Given the description of an element on the screen output the (x, y) to click on. 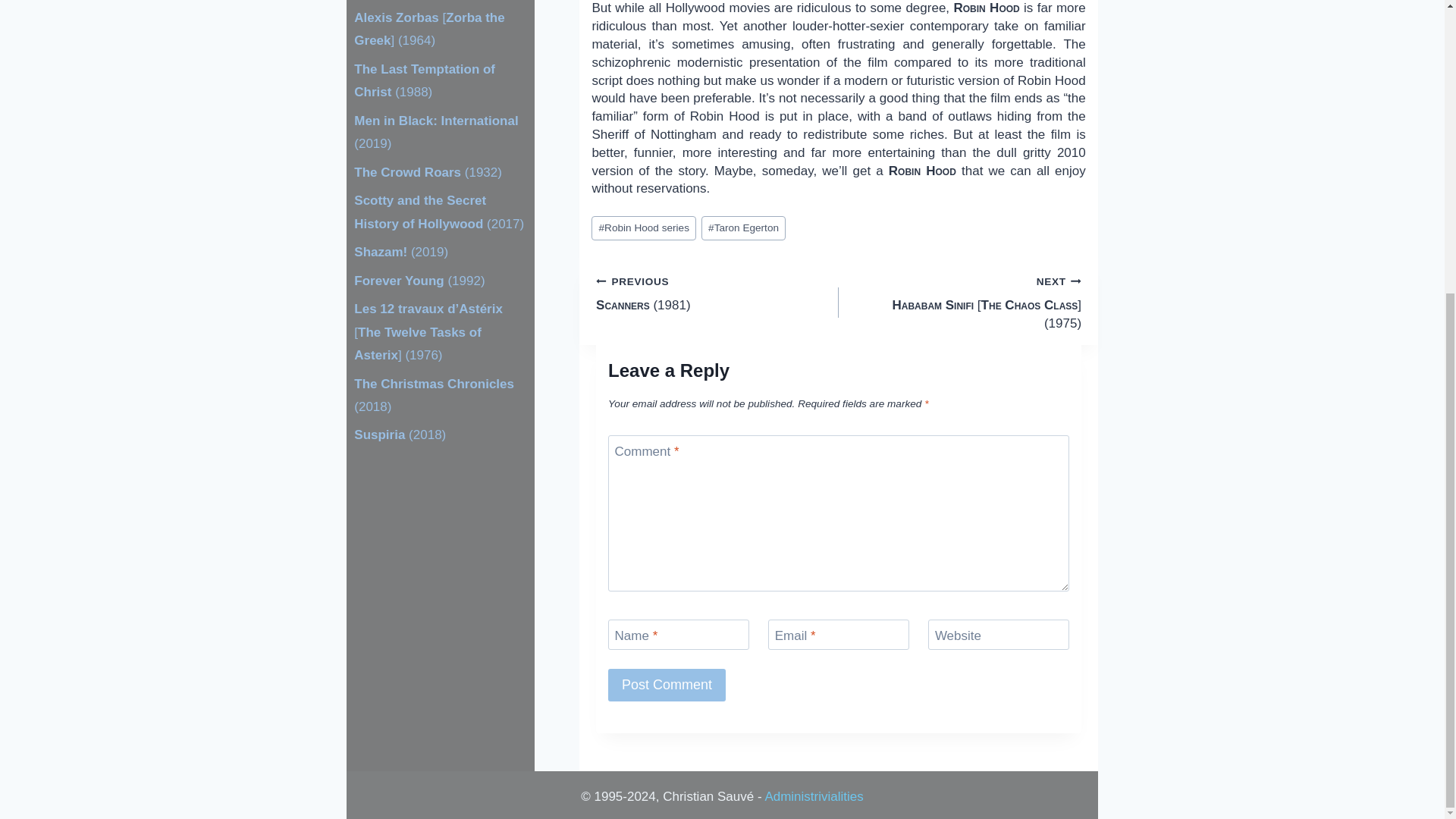
Post Comment (666, 685)
Robin Hood series (643, 228)
Taron Egerton (743, 228)
Post Comment (666, 685)
